Given the description of an element on the screen output the (x, y) to click on. 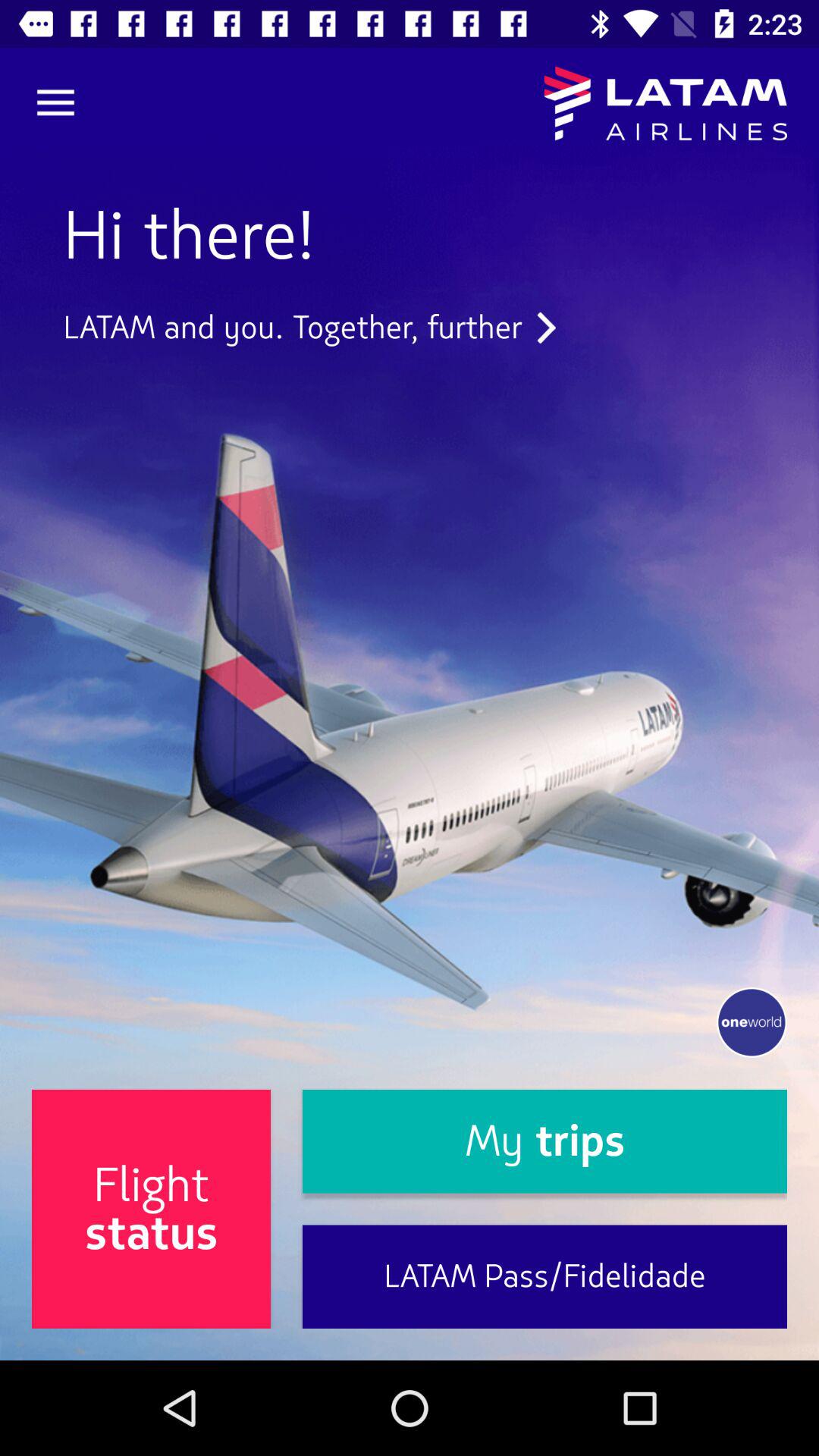
turn on icon below the hi there! icon (309, 327)
